Given the description of an element on the screen output the (x, y) to click on. 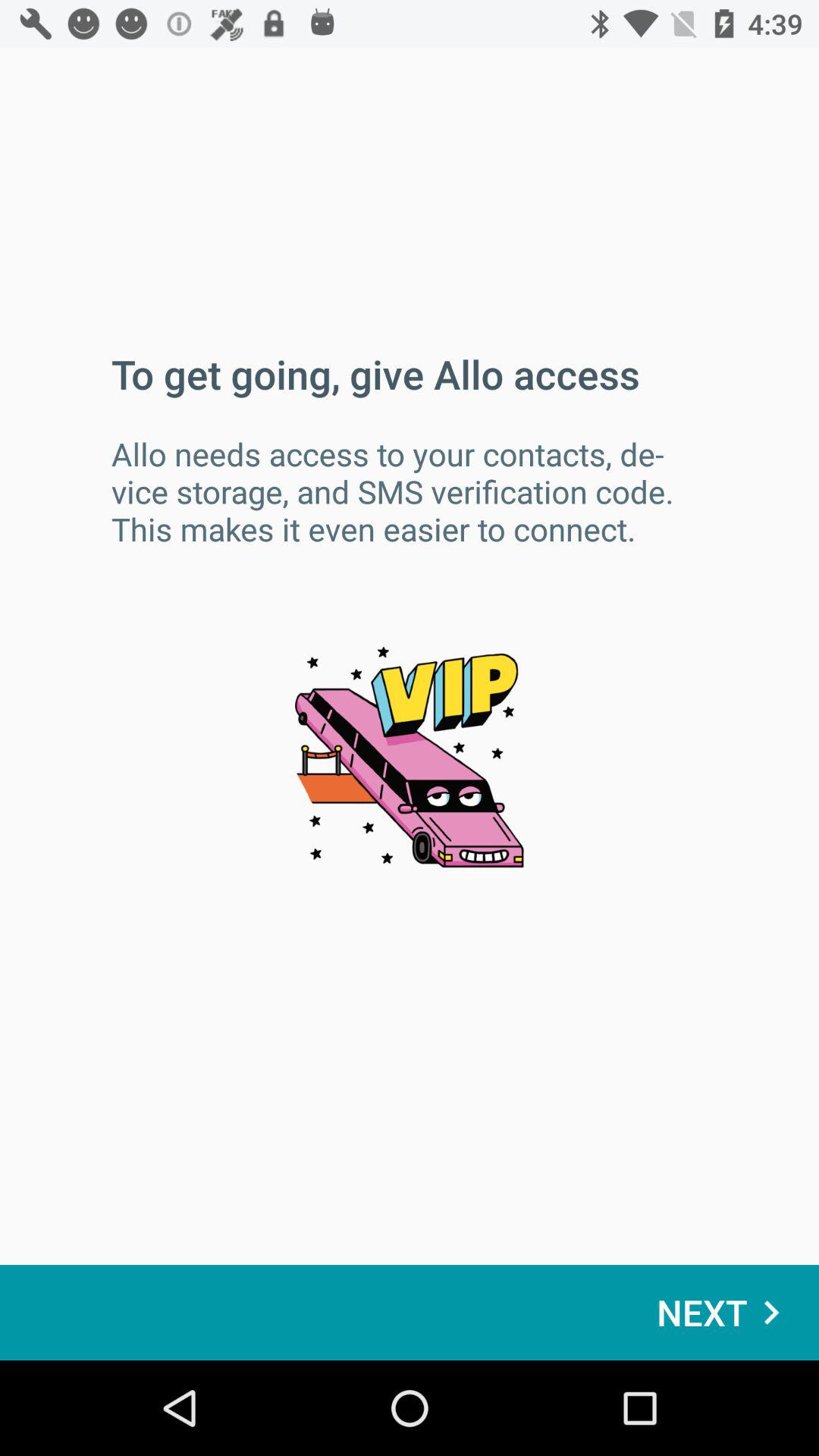
flip until next (726, 1312)
